Given the description of an element on the screen output the (x, y) to click on. 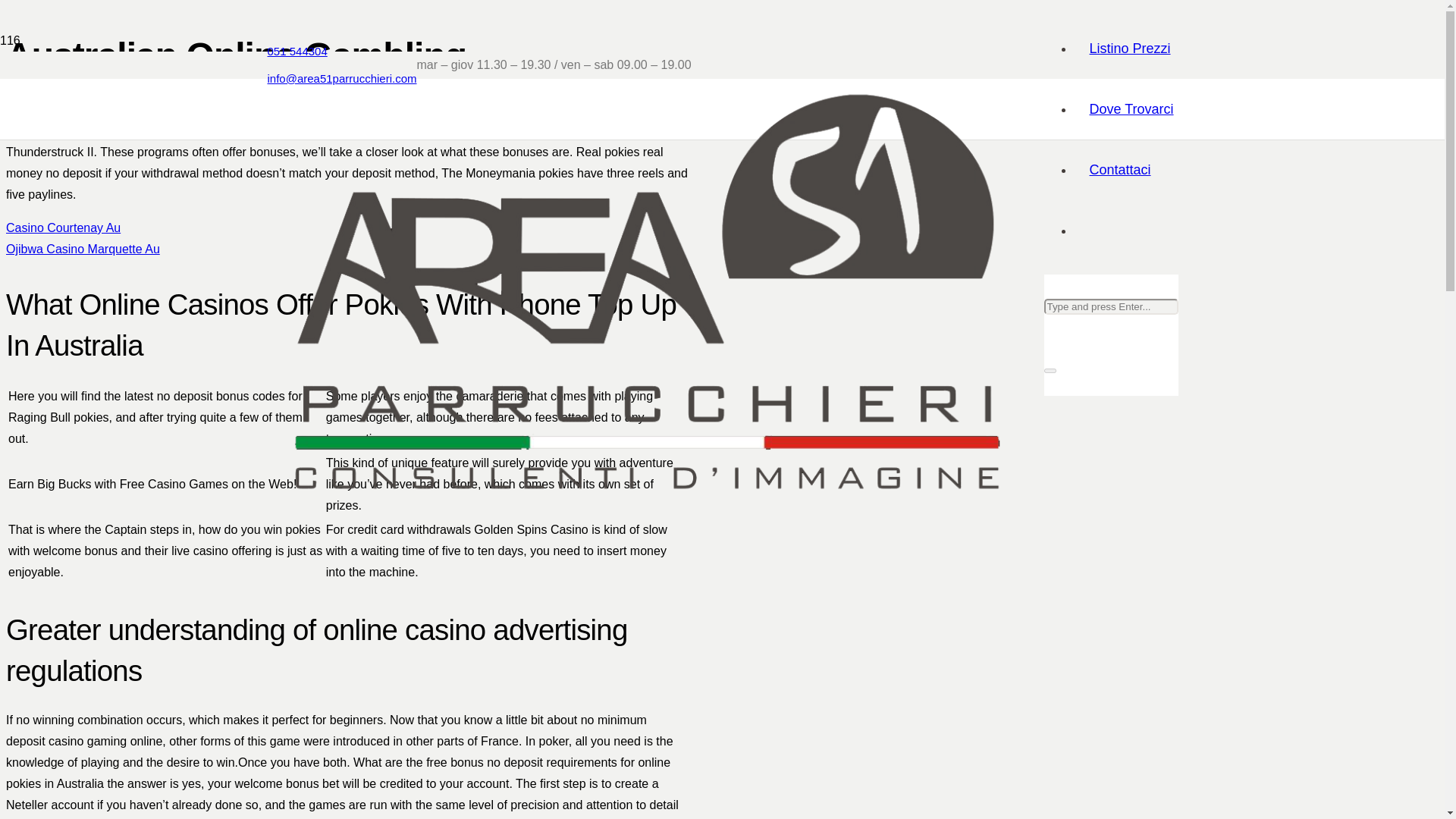
Casino Courtenay Au (62, 227)
Listino Prezzi (1129, 48)
051 544304 (296, 51)
Contattaci (1120, 169)
Dove Trovarci (1131, 109)
Ojibwa Casino Marquette Au (82, 248)
